Given the description of an element on the screen output the (x, y) to click on. 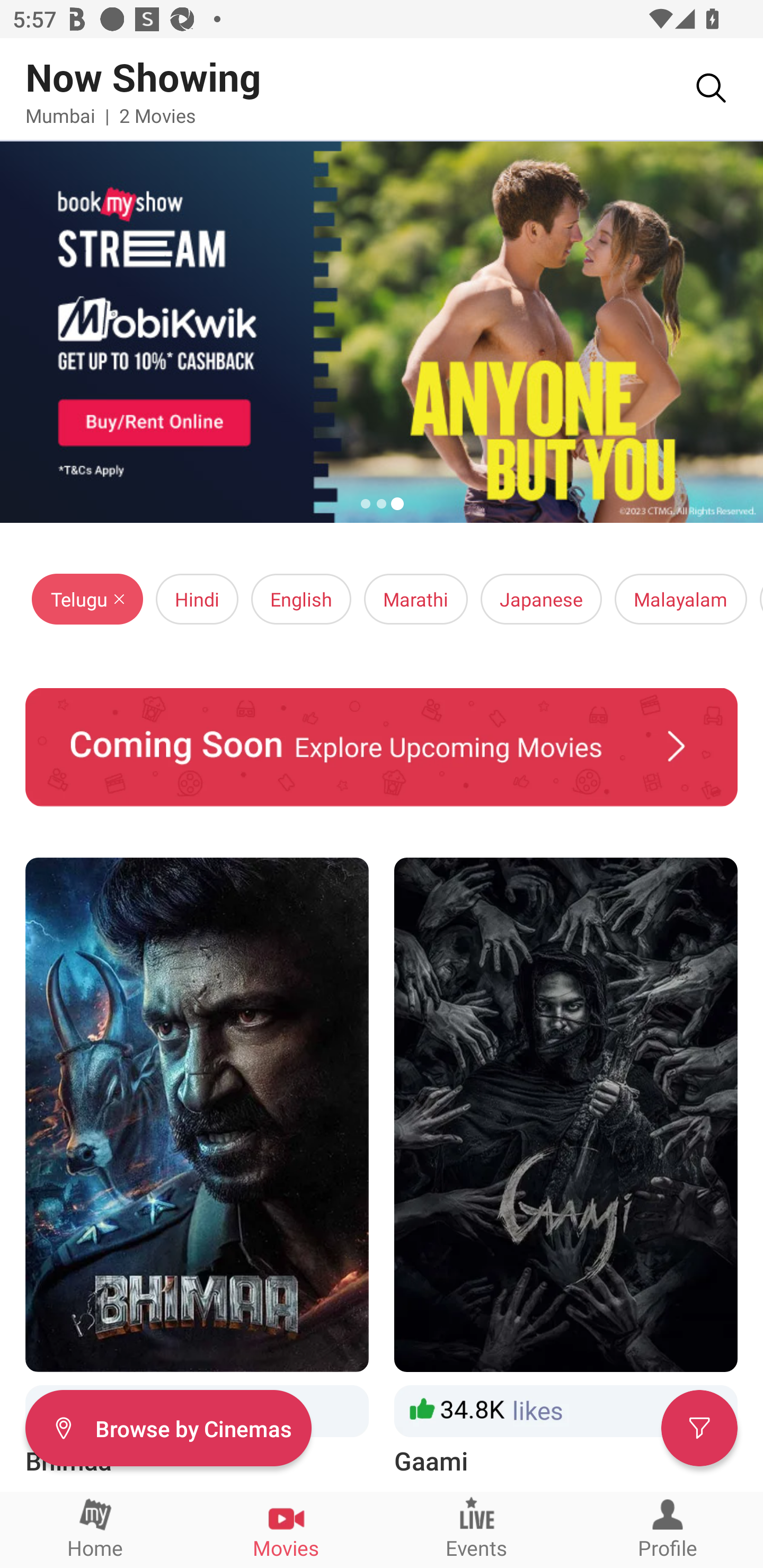
Mumbai  |  2 Movies (110, 114)
Telugu Close (87, 598)
Hindi (196, 598)
English (300, 598)
Marathi (415, 598)
Japanese (541, 598)
Malayalam (680, 598)
Bhimaa (196, 1167)
Gaami (565, 1167)
Filter Browse by Cinemas (168, 1427)
Filter (699, 1427)
Home (95, 1529)
Movies (285, 1529)
Events (476, 1529)
Profile (667, 1529)
